Given the description of an element on the screen output the (x, y) to click on. 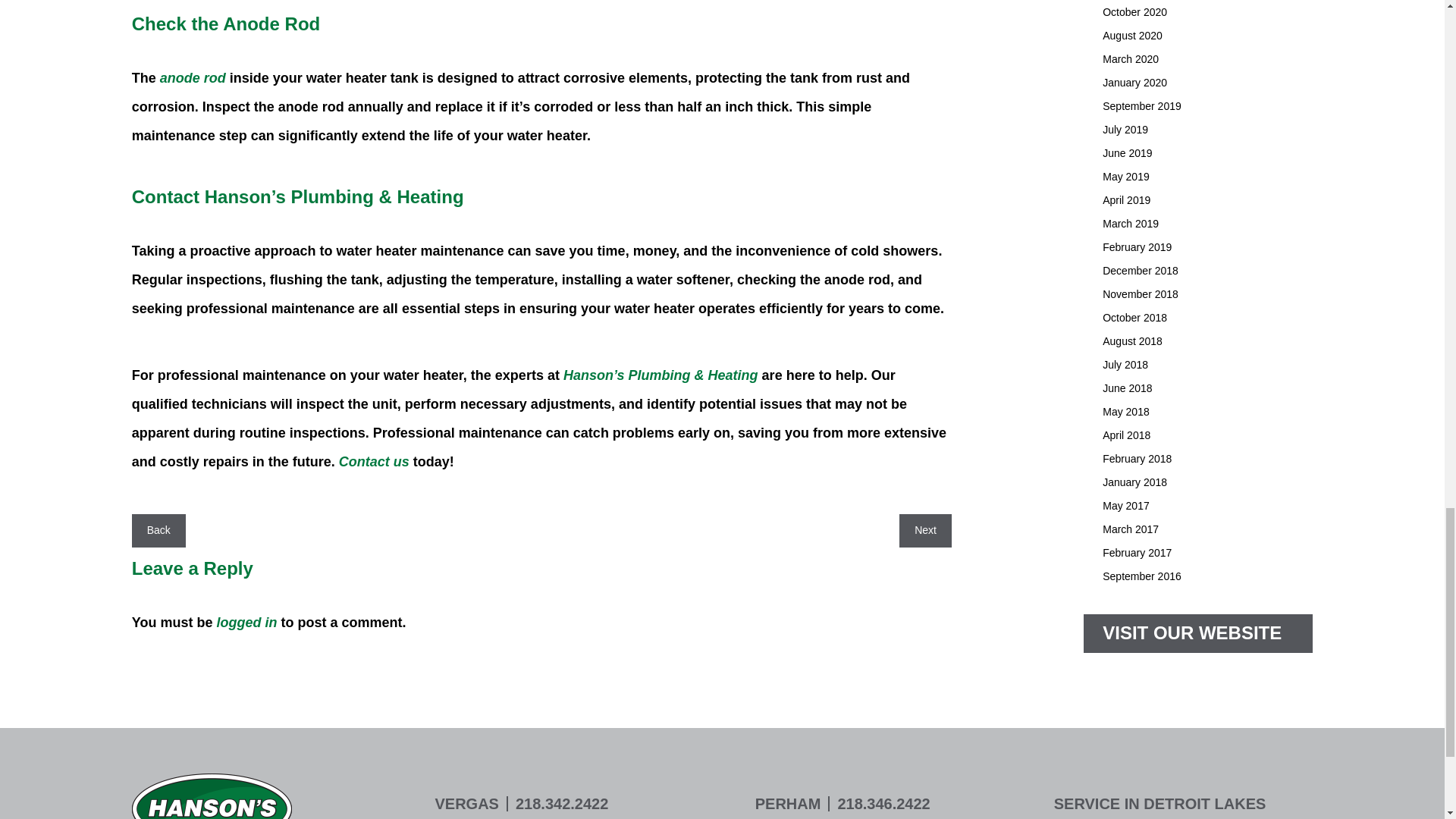
logged in (245, 622)
anode rod (192, 77)
Next (925, 530)
Back (158, 530)
Contact us (374, 461)
